Given the description of an element on the screen output the (x, y) to click on. 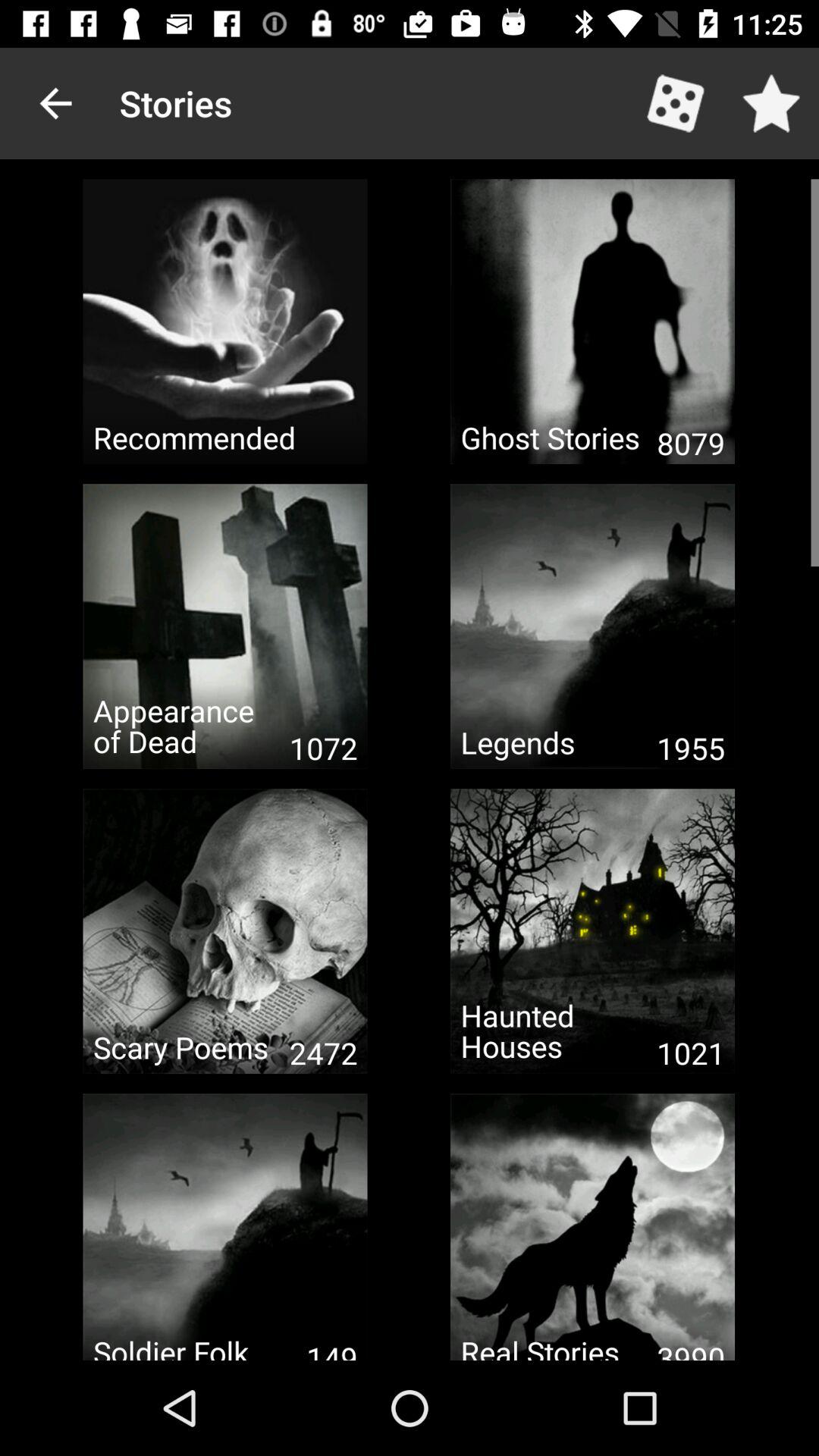
open the item next to the stories (55, 103)
